Given the description of an element on the screen output the (x, y) to click on. 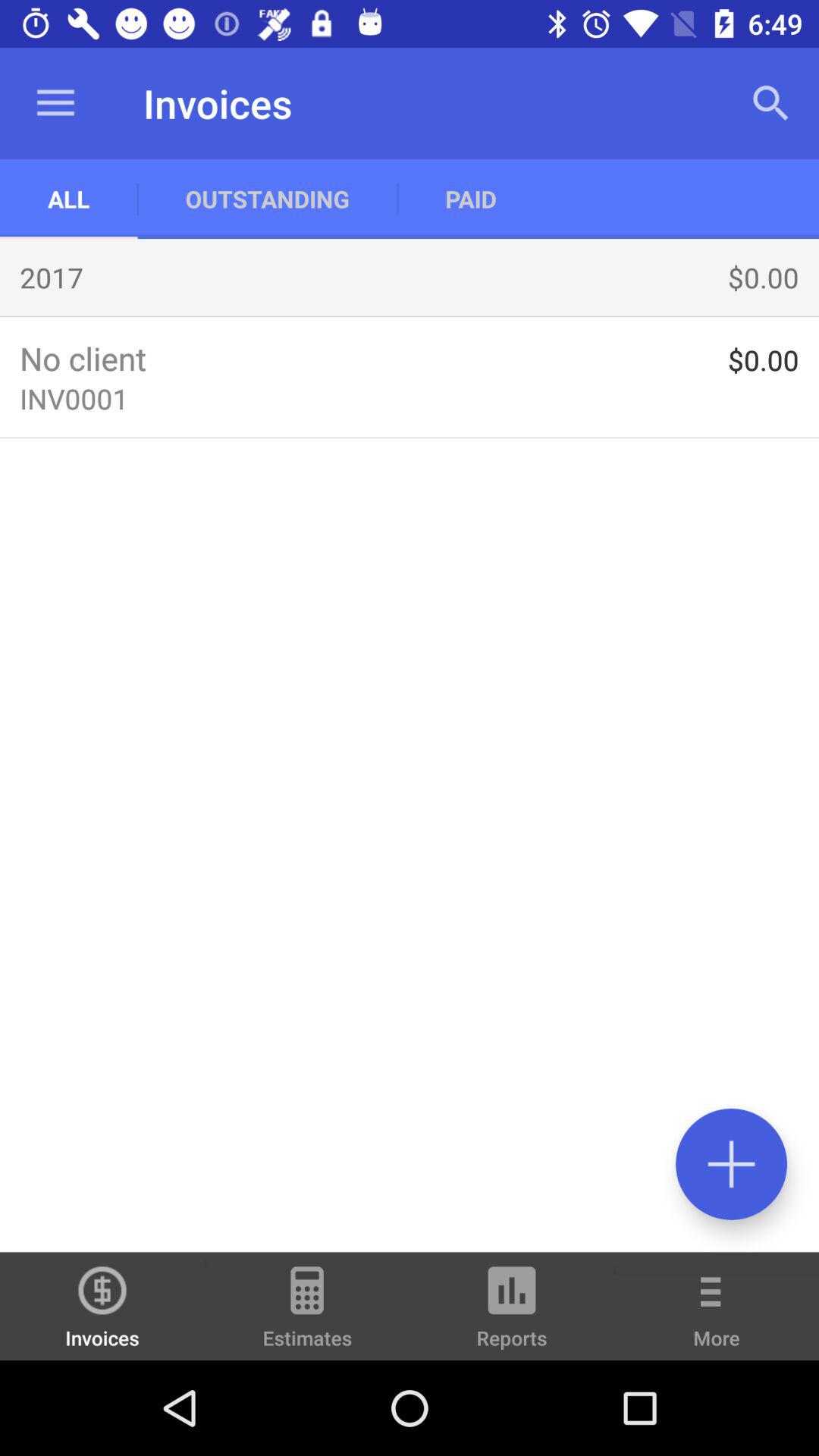
turn on the item to the right of reports (716, 1317)
